Given the description of an element on the screen output the (x, y) to click on. 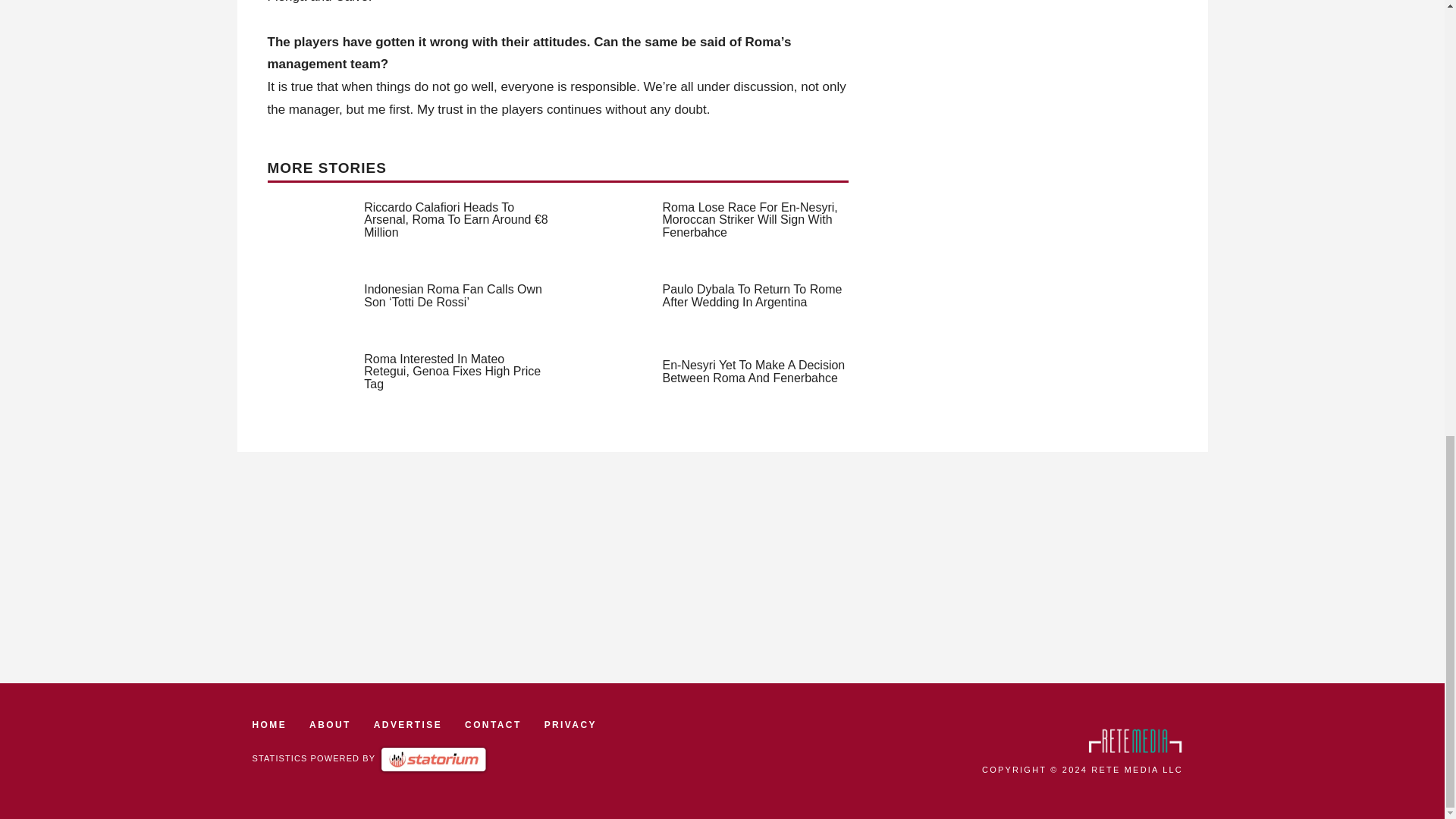
Roma Interested In Mateo Retegui, Genoa Fixes High Price Tag (452, 371)
ABOUT (329, 725)
HOME (268, 725)
En-Nesyri Yet To Make A Decision Between Roma And Fenerbahce (753, 371)
CONTACT (492, 725)
Paulo Dybala To Return To Rome After Wedding In Argentina (752, 295)
PRIVACY (570, 725)
ADVERTISE (408, 725)
